Given the description of an element on the screen output the (x, y) to click on. 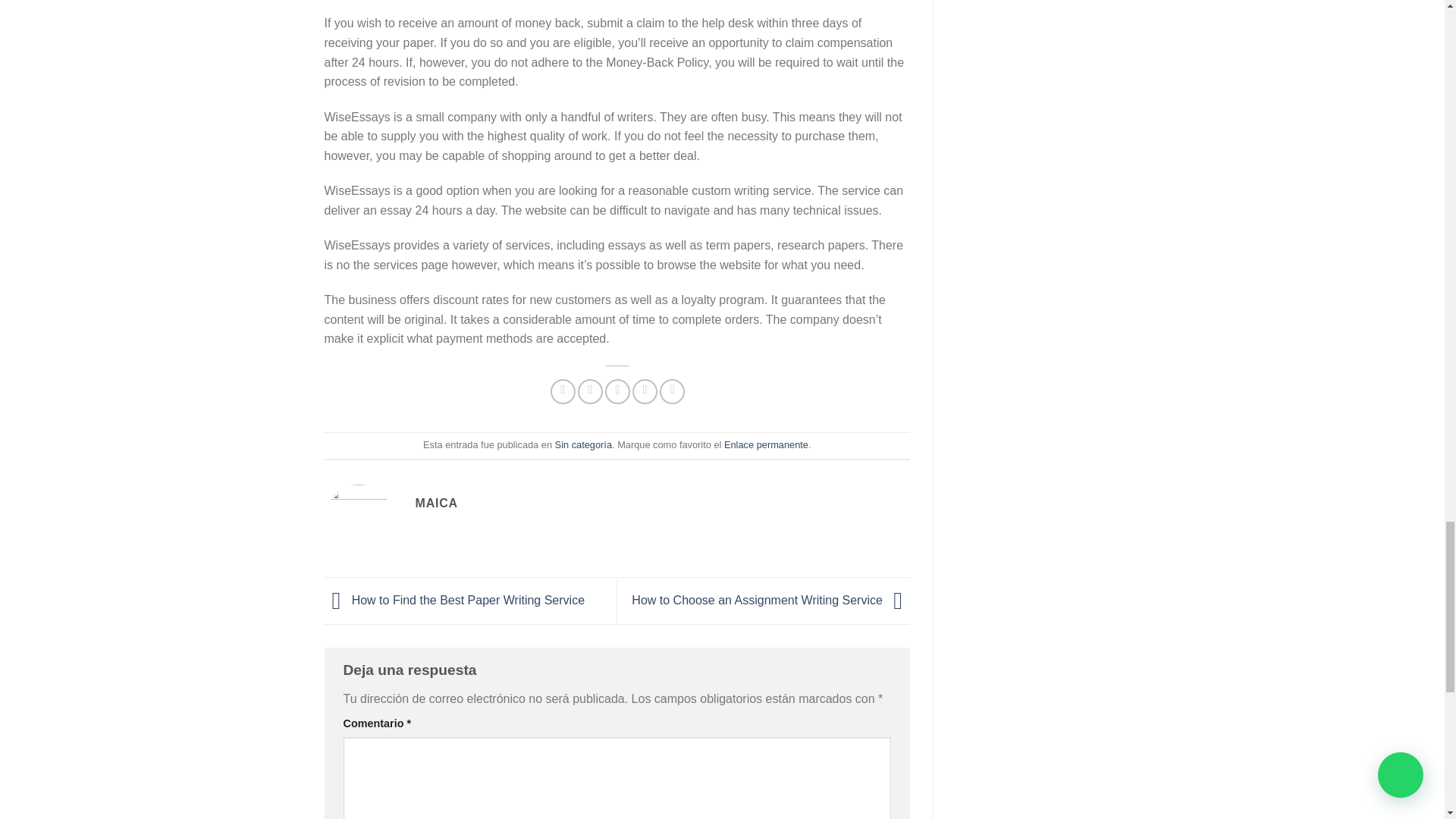
Compartir en Facebook (562, 391)
How to Find the Best Paper Writing Service (454, 599)
Share on LinkedIn (671, 391)
Enlace permanente (765, 444)
Pinear en Pinterest (644, 391)
Compartir en Twitter (590, 391)
How to Choose an Assignment Writing Service (770, 599)
